Given the description of an element on the screen output the (x, y) to click on. 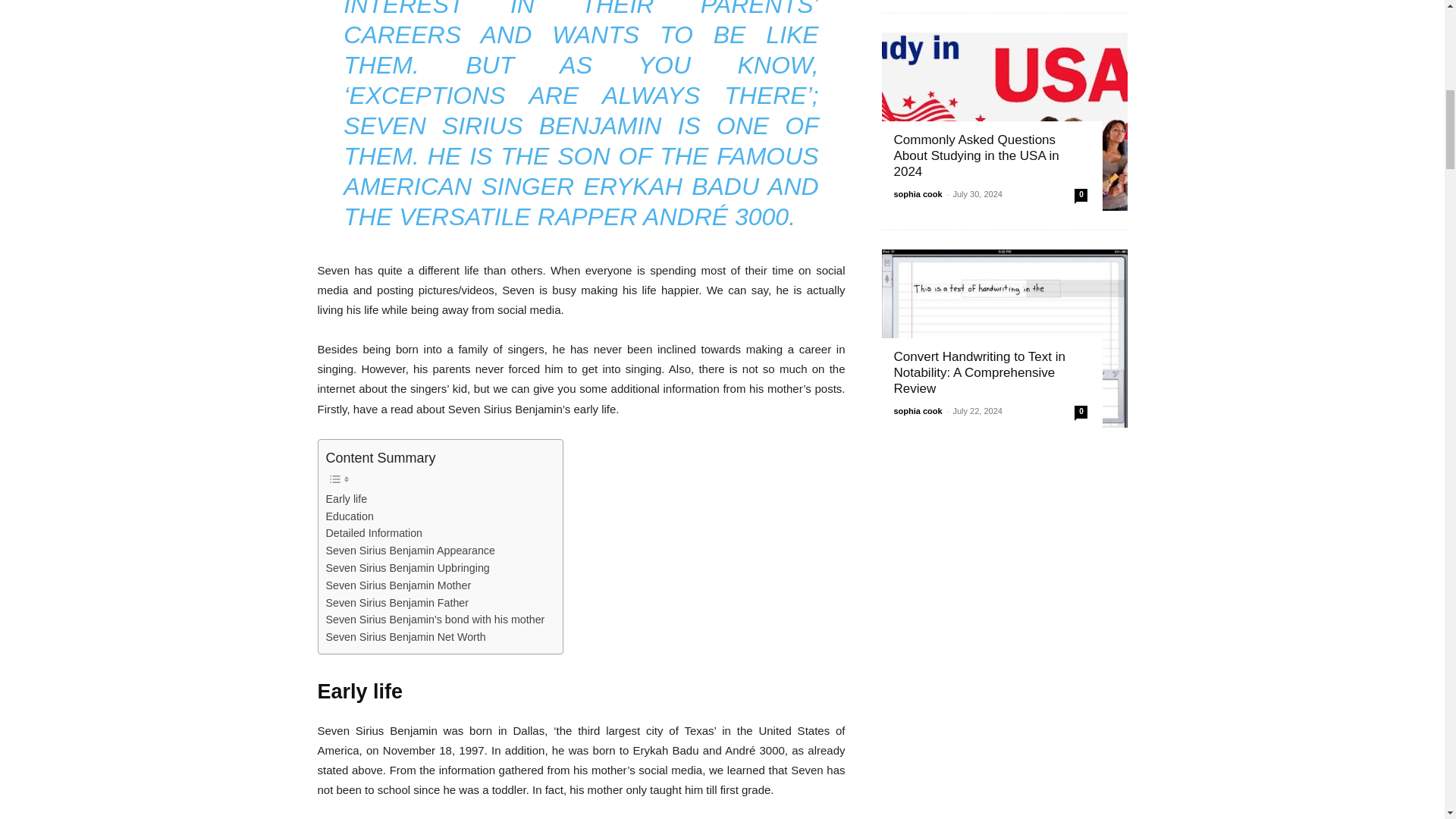
Education (350, 516)
Early life (347, 498)
Seven Sirius Benjamin Father (397, 602)
Seven Sirius Benjamin Upbringing (407, 568)
Detailed Information (374, 533)
Seven Sirius Benjamin Mother (398, 585)
Seven Sirius Benjamin Appearance (410, 550)
